Given the description of an element on the screen output the (x, y) to click on. 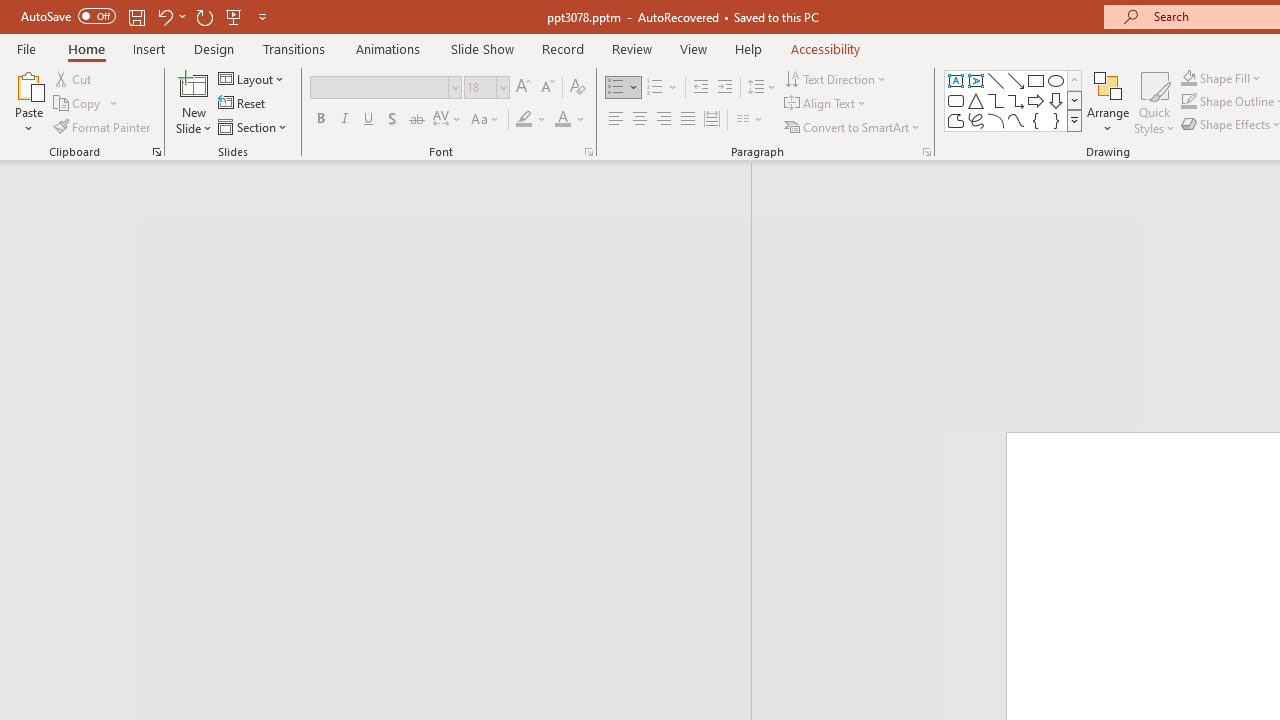
Outline (384, 215)
